Given the description of an element on the screen output the (x, y) to click on. 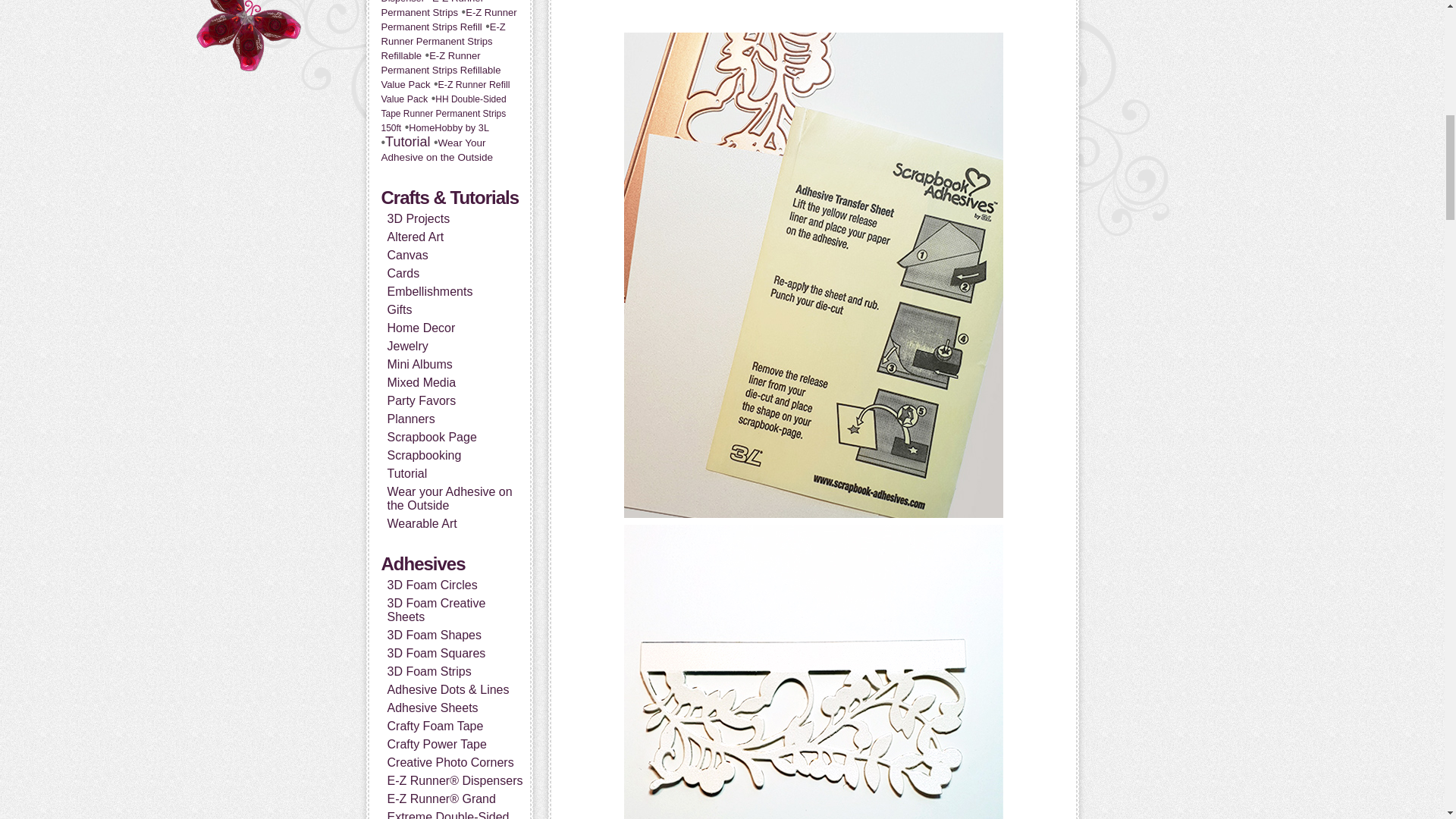
28 topics (440, 69)
28 topics (442, 41)
23 topics (444, 91)
28 topics (448, 19)
29 topics (431, 9)
26 topics (434, 2)
